Given the description of an element on the screen output the (x, y) to click on. 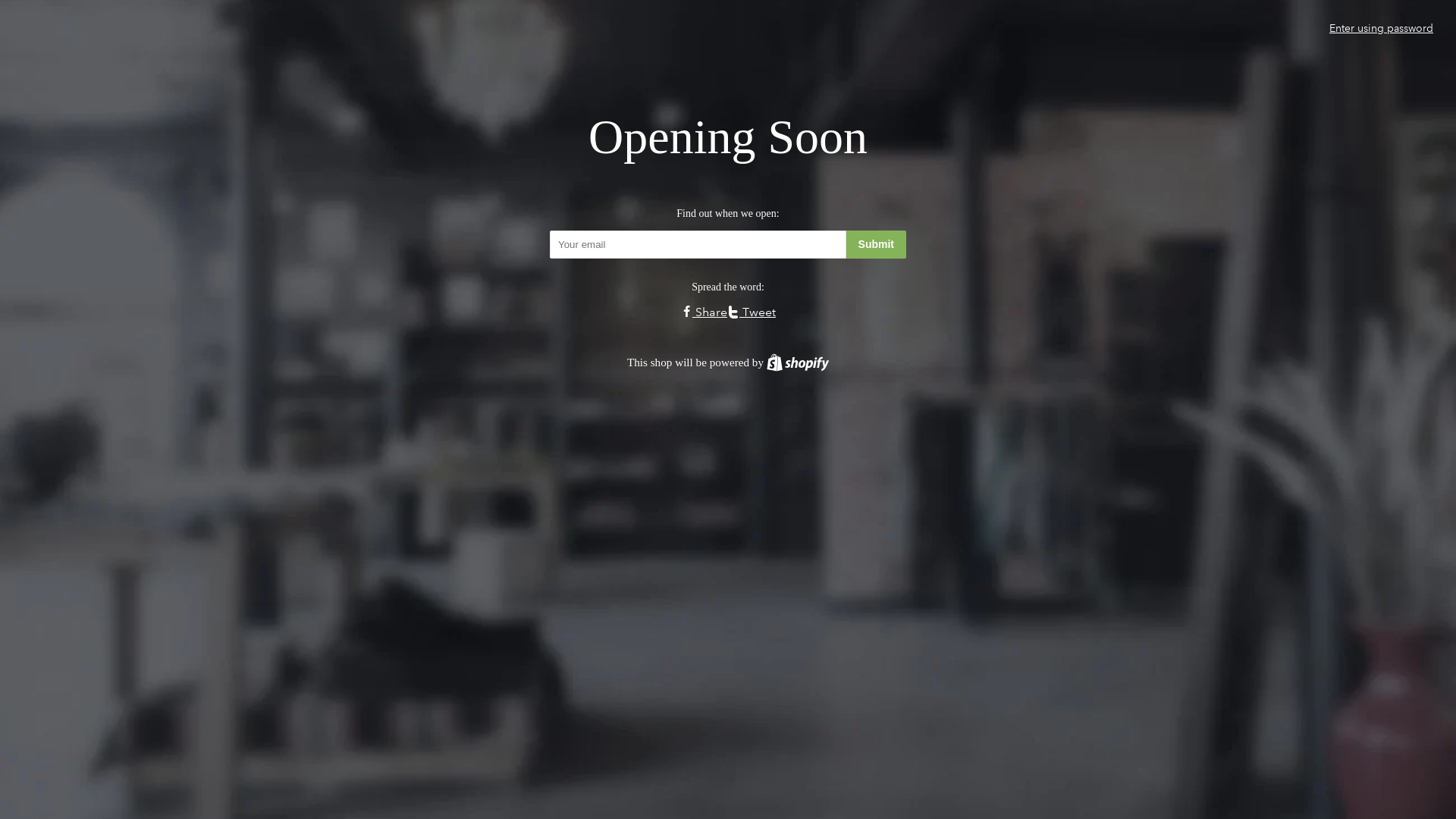
Enter using password Element type: text (1381, 27)
Tweet Element type: text (751, 311)
Shopify logo
Shopify Element type: text (797, 361)
Share Element type: text (703, 311)
Submit Element type: text (876, 244)
